Given the description of an element on the screen output the (x, y) to click on. 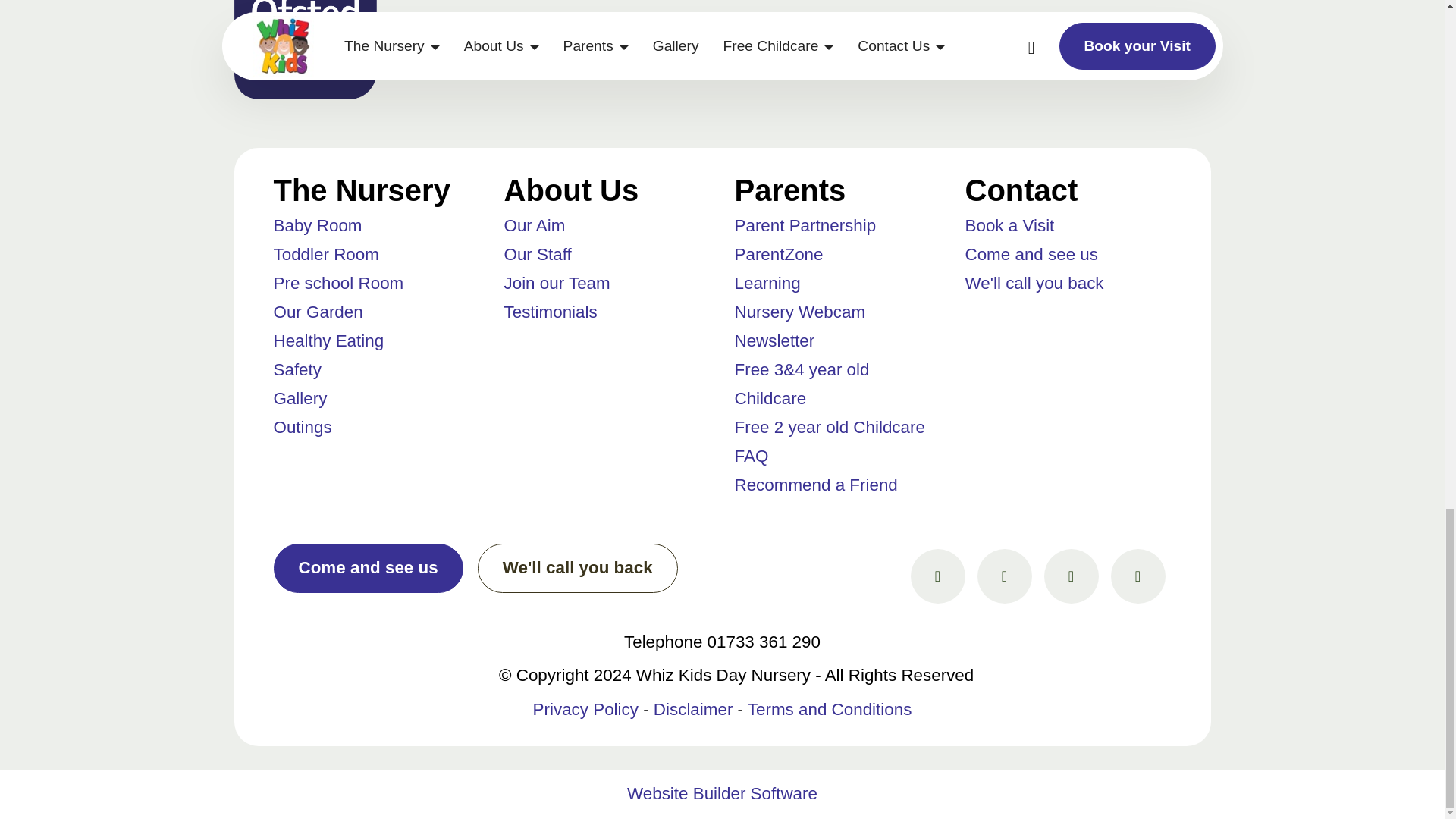
Toddler Room (325, 253)
Pre school Room (338, 282)
Baby Room (317, 225)
